Given the description of an element on the screen output the (x, y) to click on. 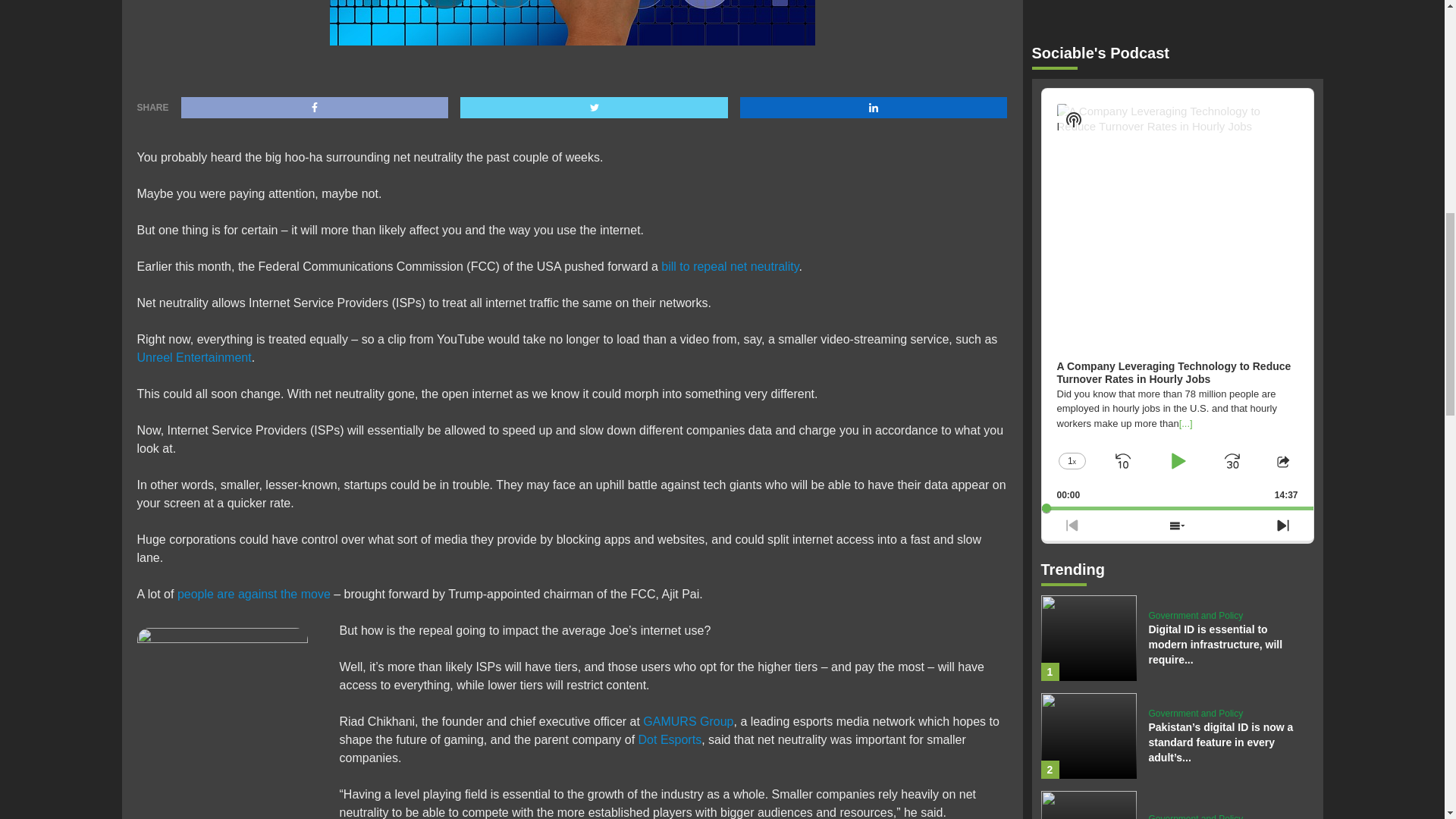
bill to repeal net neutrality (729, 266)
people are against the move (253, 594)
GAMURS Group (688, 721)
Dot Esports (670, 739)
Unreel Entertainment (193, 357)
